Given the description of an element on the screen output the (x, y) to click on. 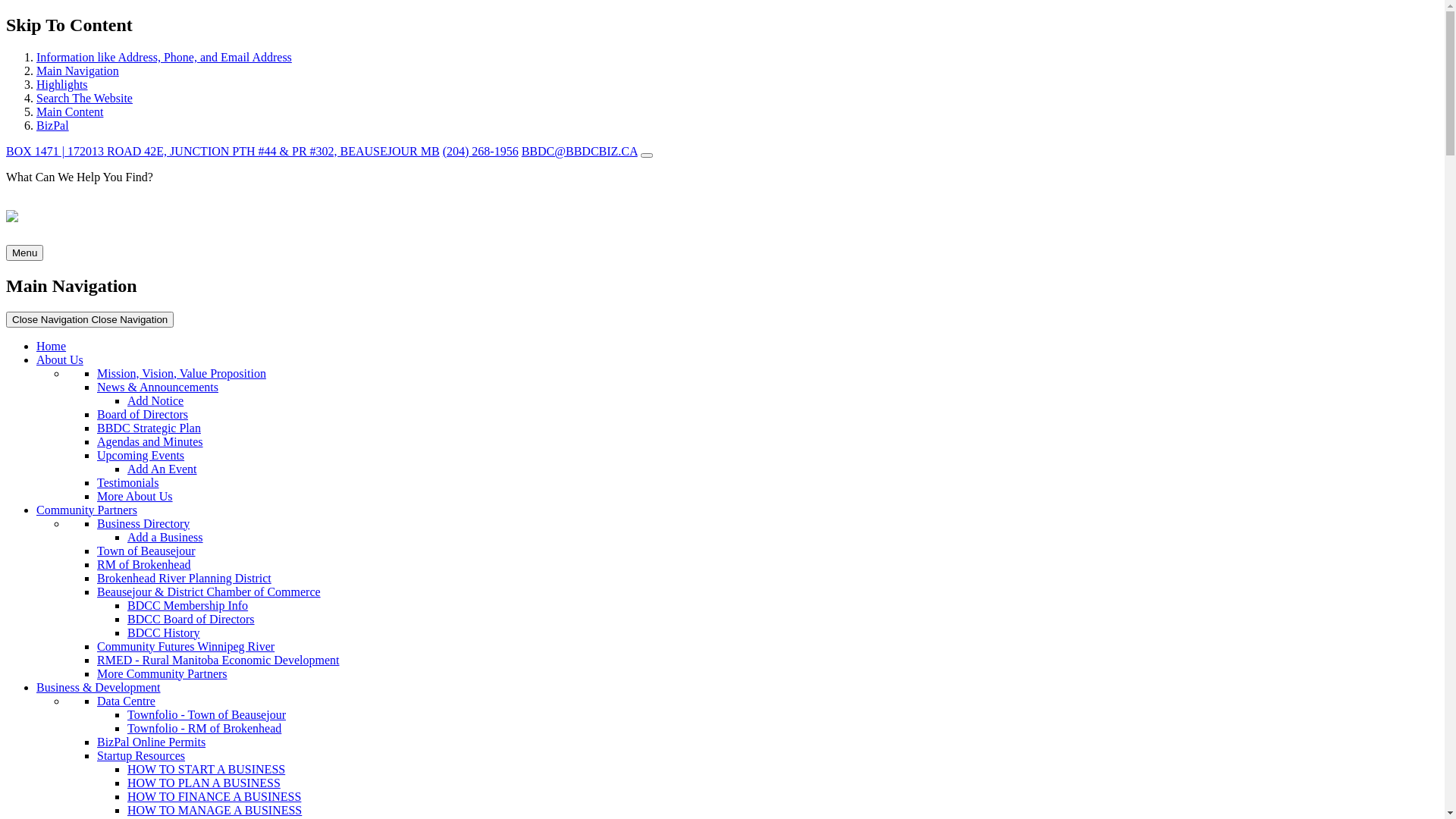
Upcoming Events Element type: text (140, 454)
Brokenhead River Planning District Element type: text (184, 577)
BDCC History Element type: text (163, 632)
Home Element type: text (50, 345)
More Community Partners Element type: text (162, 673)
Board of Directors Element type: text (142, 413)
RMED - Rural Manitoba Economic Development Element type: text (217, 659)
Know the current weather in BEAUSEJOUR MB Element type: hover (646, 155)
Search The Website Element type: text (84, 97)
Add Notice Element type: text (155, 400)
What Can We Help You Find? Element type: text (722, 190)
Town of Beausejour Element type: text (146, 550)
Main Content Element type: text (69, 111)
BDCC Membership Info Element type: text (187, 605)
Add An Event Element type: text (162, 468)
Main Navigation Element type: text (77, 70)
Townfolio - Town of Beausejour Element type: text (206, 714)
Townfolio - RM of Brokenhead Element type: text (204, 727)
BizPal Online Permits Element type: text (151, 741)
BBDC@BBDCBIZ.CA Element type: text (579, 150)
About Us Element type: text (59, 359)
News & Announcements Element type: text (157, 386)
More About Us Element type: text (134, 495)
Beausejour & District Chamber of Commerce Element type: text (208, 591)
HOW TO FINANCE A BUSINESS Element type: text (214, 796)
HOW TO START A BUSINESS Element type: text (206, 768)
RM of Brokenhead Element type: text (144, 564)
BDCC Board of Directors Element type: text (190, 618)
Information like Address, Phone, and Email Address Element type: text (163, 56)
(204) 268-1956 Element type: text (480, 150)
Menu Element type: text (24, 252)
Business & Development Element type: text (98, 686)
BizPal Element type: text (52, 125)
Startup Resources Element type: text (141, 755)
Community Partners Element type: text (86, 509)
Community Futures Winnipeg River Element type: text (185, 646)
BBDC Strategic Plan Element type: text (148, 427)
Business Directory Element type: text (143, 523)
Mission, Vision, Value Proposition Element type: text (181, 373)
Agendas and Minutes Element type: text (150, 441)
Close Navigation Close Navigation Element type: text (89, 318)
HOW TO MANAGE A BUSINESS Element type: text (214, 809)
Add a Business Element type: text (165, 536)
Data Centre Element type: text (126, 700)
Highlights Element type: text (61, 84)
HOW TO PLAN A BUSINESS Element type: text (203, 782)
Testimonials Element type: text (128, 482)
